Given the description of an element on the screen output the (x, y) to click on. 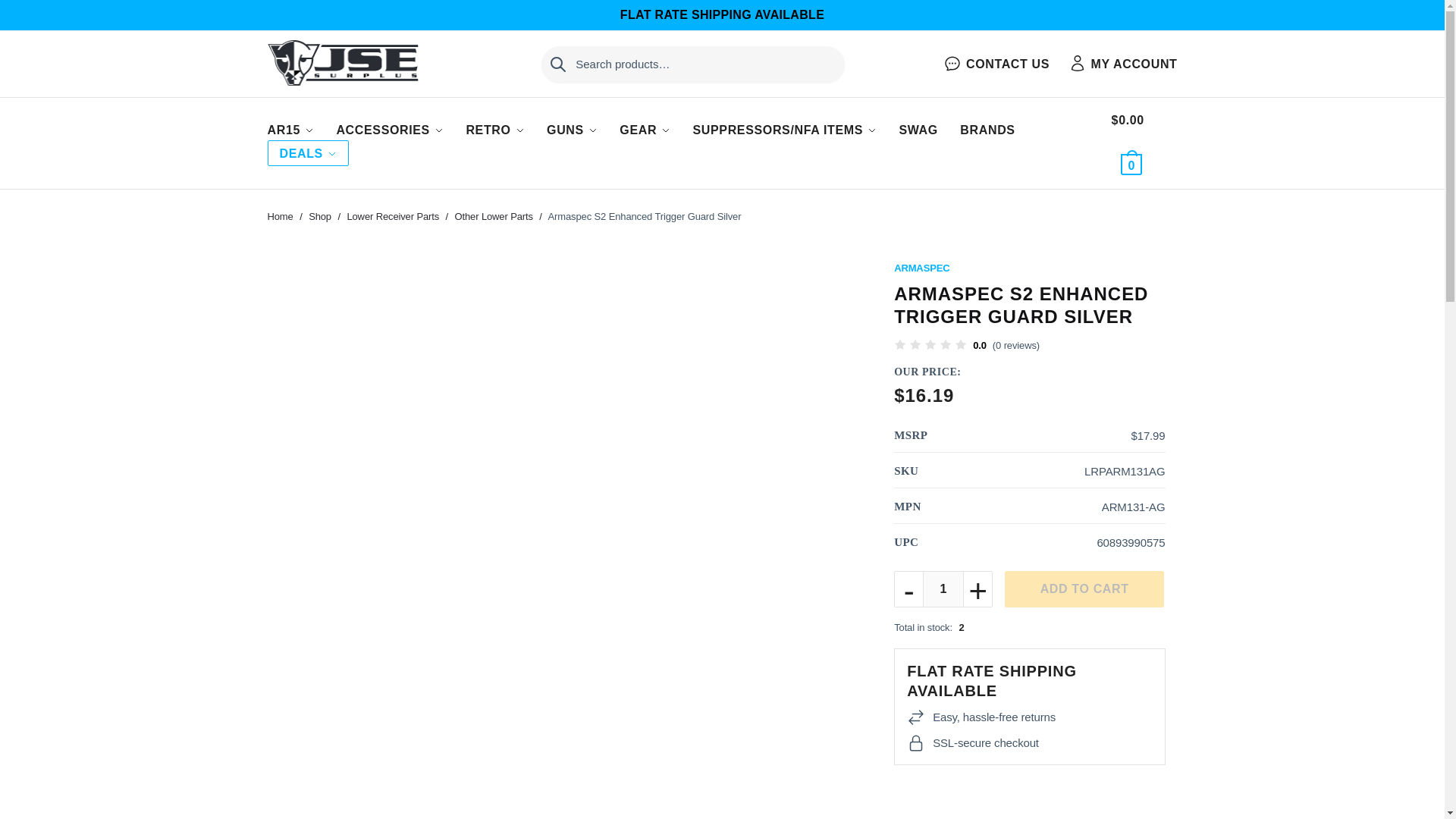
ACCESSORIES (390, 130)
MY ACCOUNT (1122, 64)
AR15 (289, 130)
CONTACT US (996, 64)
1 (943, 588)
Search (565, 55)
